Given the description of an element on the screen output the (x, y) to click on. 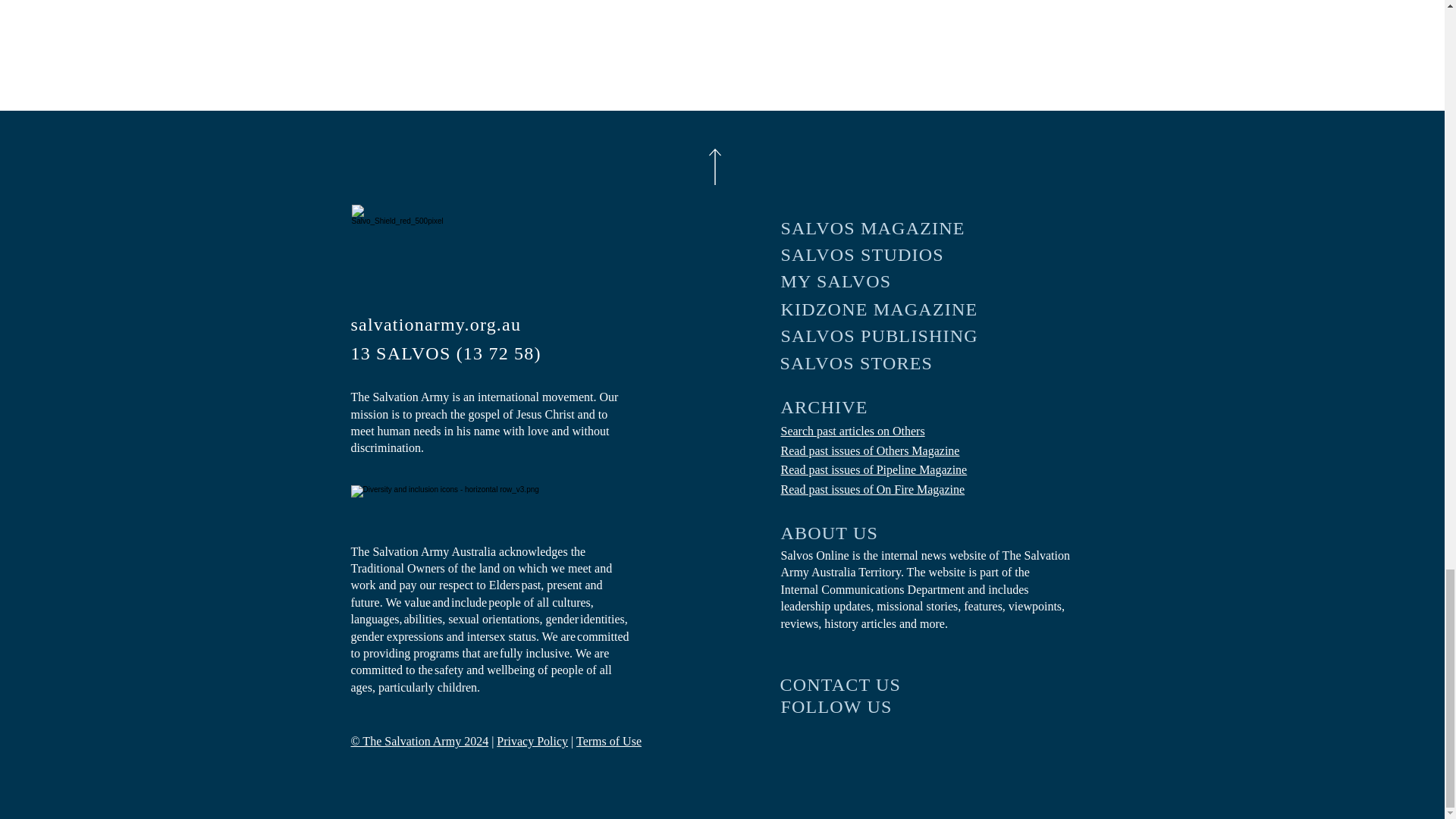
SALVOS MAGAZINE (879, 228)
SALVOS STUDIOS (879, 254)
Read past issues of Others Magazine (869, 450)
particularly children (427, 686)
Read past issues of Pipeline Magazine (874, 469)
salvationarmy.org.au (452, 325)
KIDZONE MAGAZINE (879, 309)
SALVOS STORES (878, 363)
MY SALVOS (879, 281)
Read past issues of On Fire Magazine (872, 489)
